Given the description of an element on the screen output the (x, y) to click on. 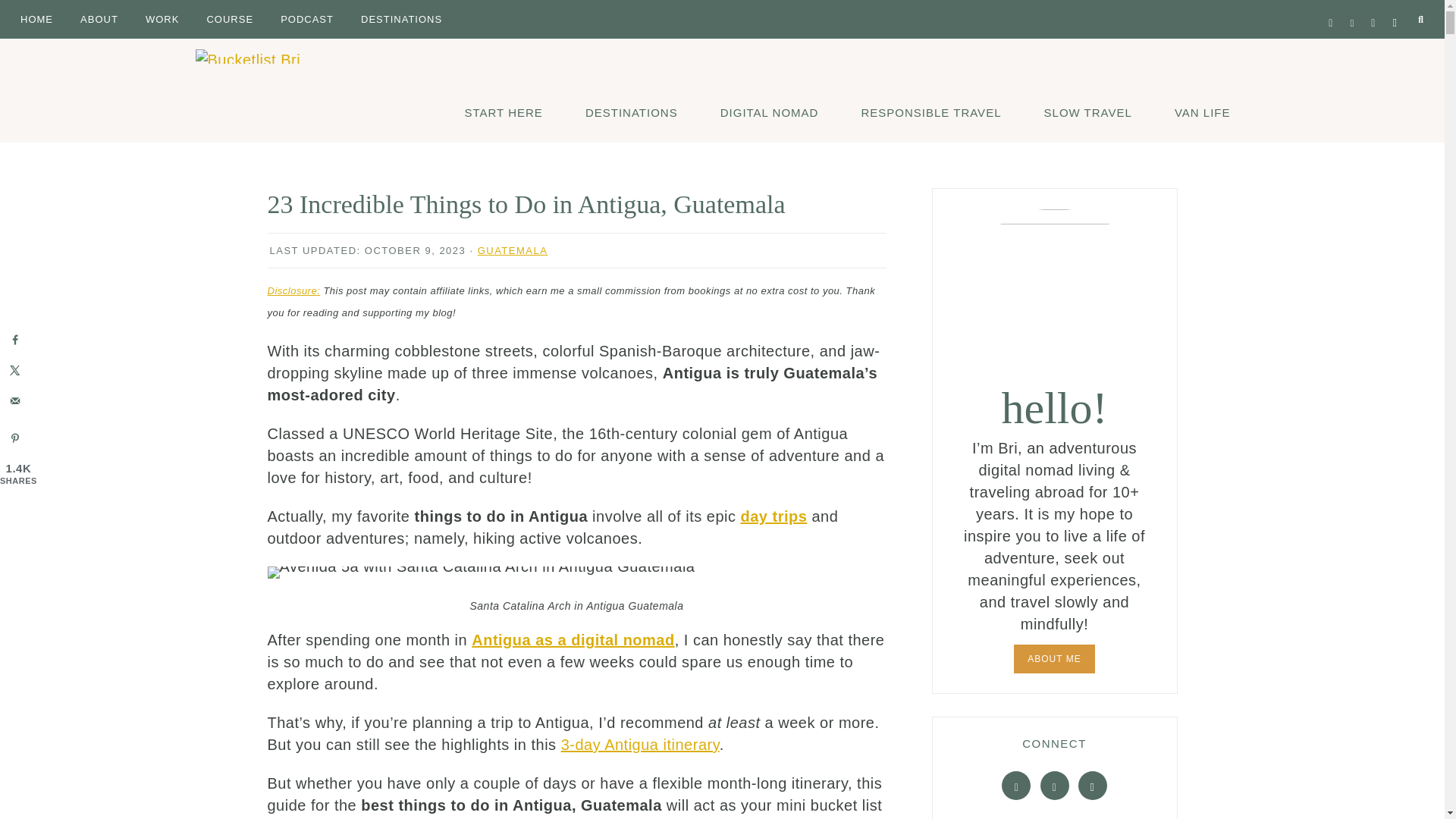
COURSE (229, 18)
VAN LIFE (1202, 110)
GUATEMALA (512, 250)
WORK (161, 18)
DIGITAL NOMAD (769, 110)
START HERE (503, 110)
day trips (774, 515)
ABOUT (98, 18)
PODCAST (307, 18)
HOME (36, 18)
10 Best Day Trips from Antigua Guatemala (774, 515)
Disclosure: (293, 290)
DESTINATIONS (400, 18)
Antigua as a digital nomad (572, 639)
